Given the description of an element on the screen output the (x, y) to click on. 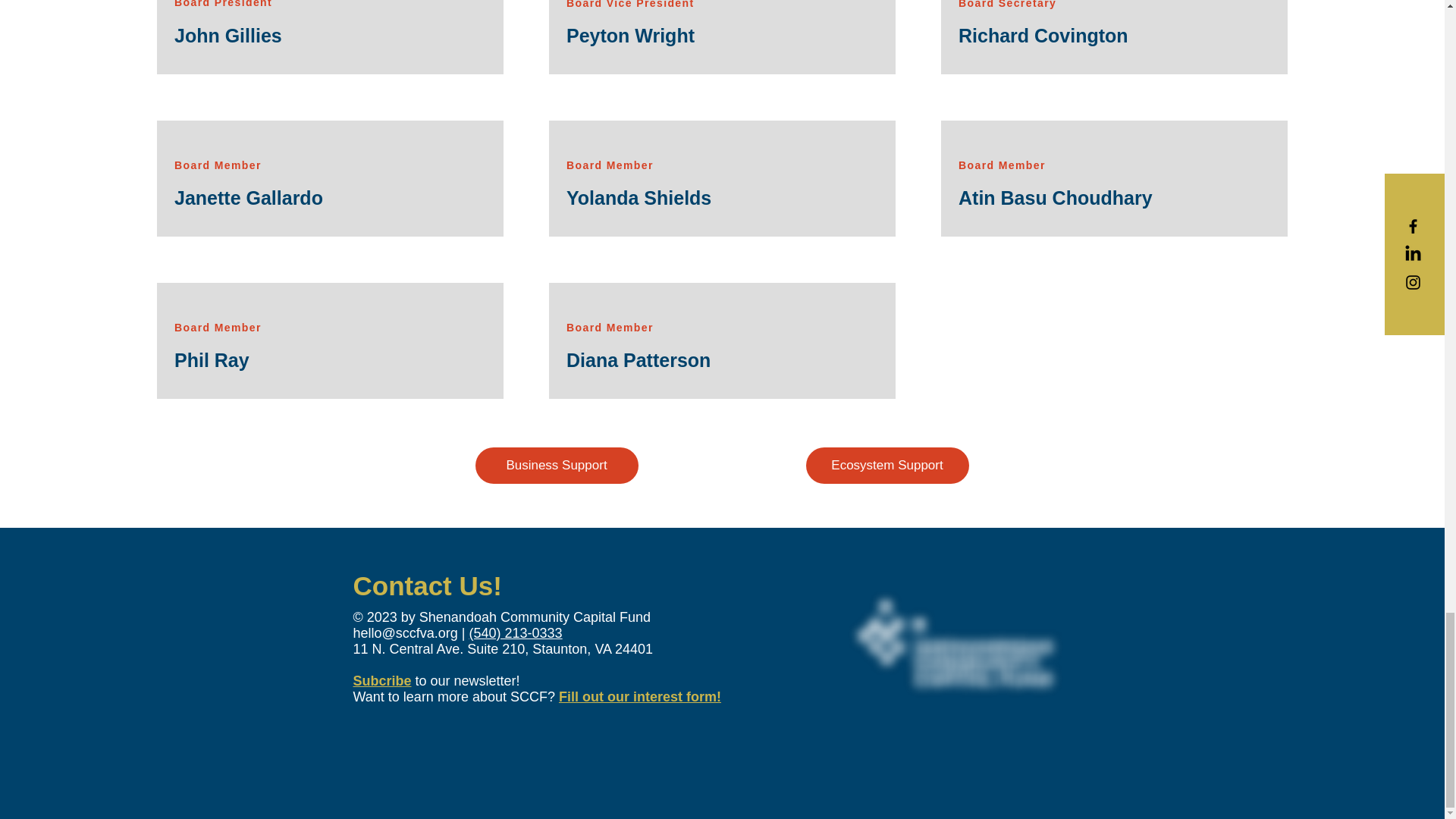
Fill out our interest form! (639, 696)
Ecosystem Support (886, 465)
Subcribe (382, 680)
Business Support (555, 465)
